Given the description of an element on the screen output the (x, y) to click on. 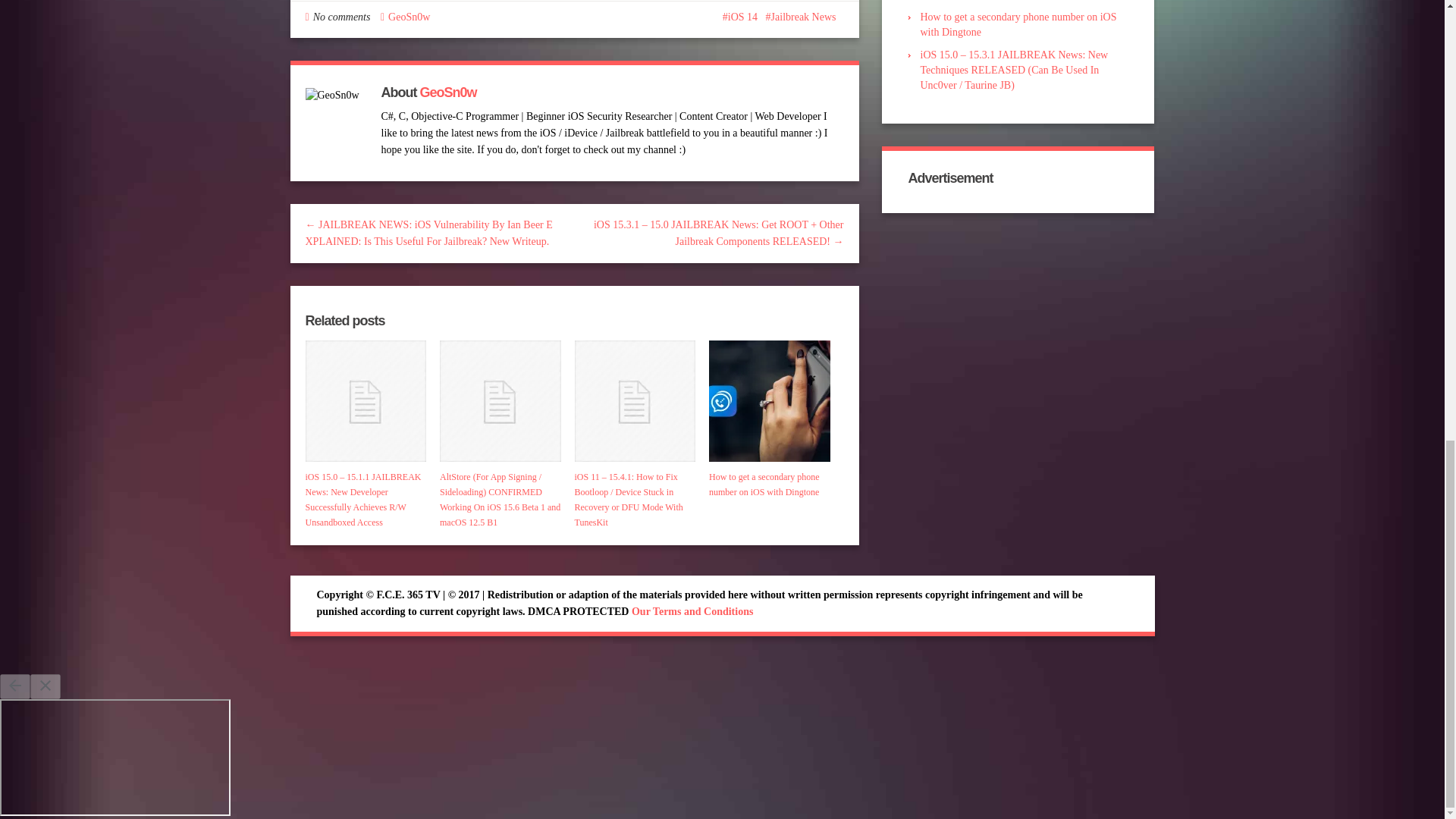
How to get a secondary phone number on iOS with Dingtone (769, 400)
Jailbreak News (800, 16)
Posts by GeoSn0w (408, 16)
iOS 14 (739, 16)
GeoSn0w (447, 92)
GeoSn0w (408, 16)
No comments (342, 16)
